Given the description of an element on the screen output the (x, y) to click on. 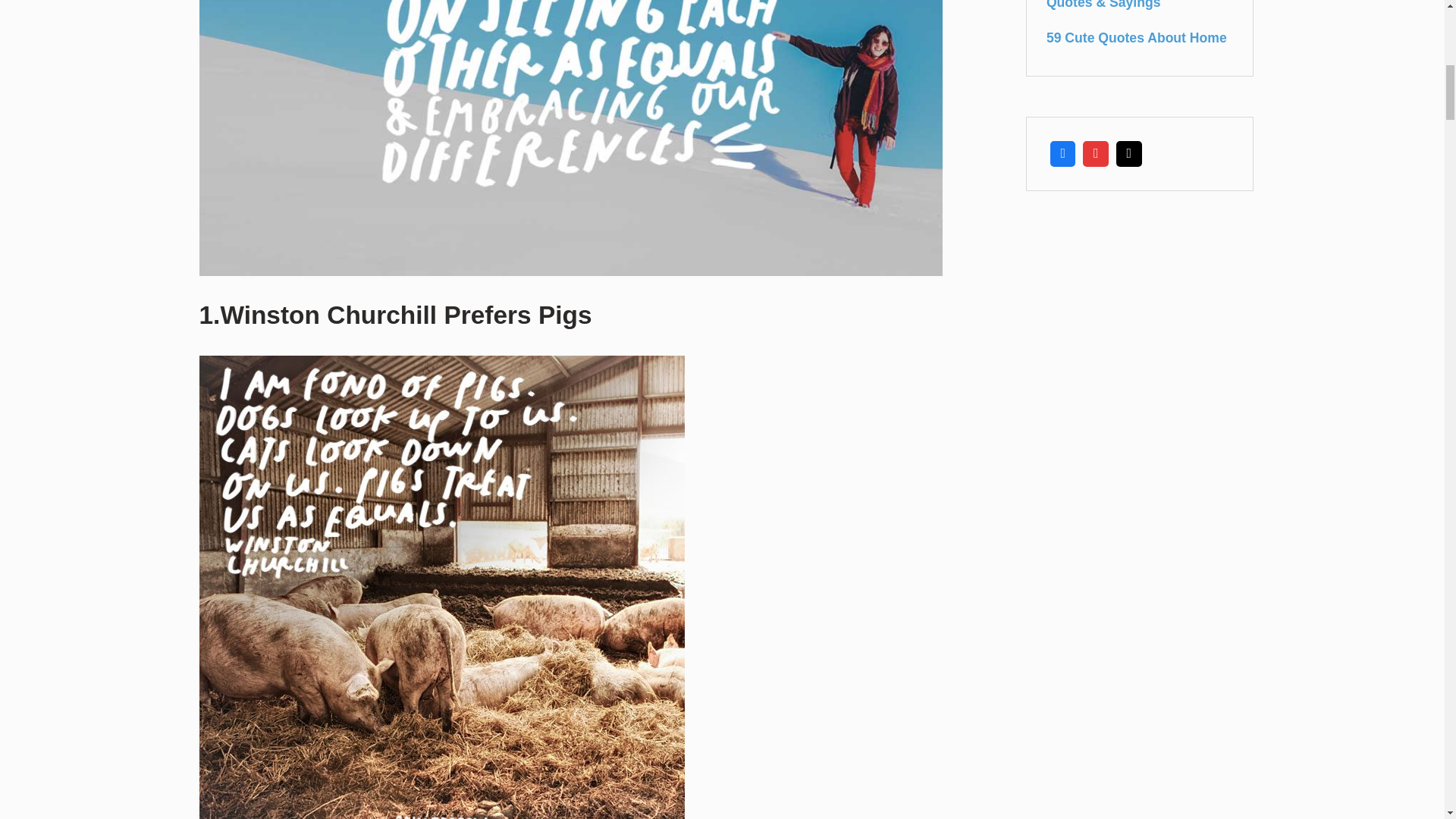
Pinterest (1095, 153)
Facebook (1063, 153)
Tiktok (1128, 153)
